Given the description of an element on the screen output the (x, y) to click on. 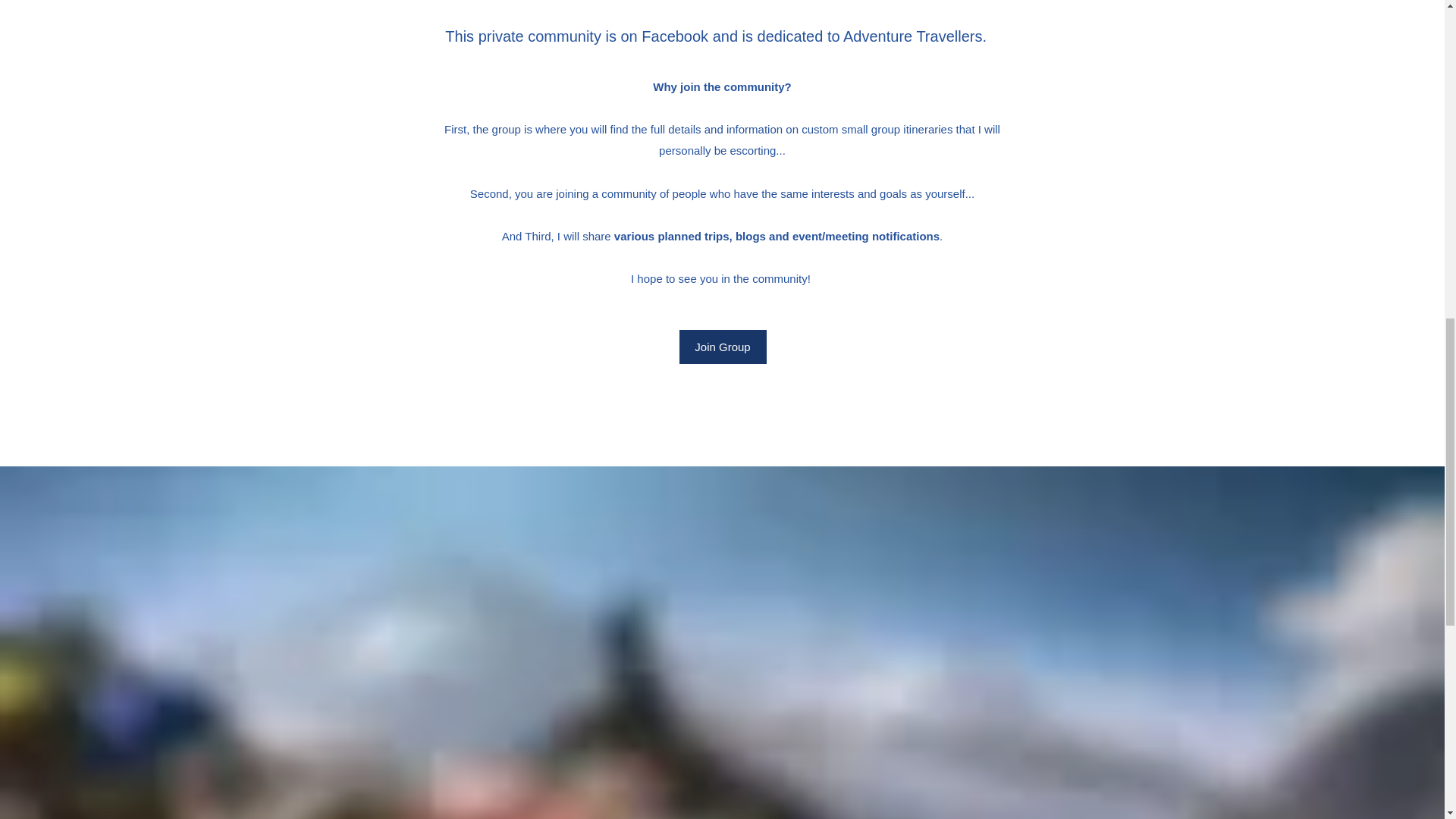
Join Group (723, 346)
